Given the description of an element on the screen output the (x, y) to click on. 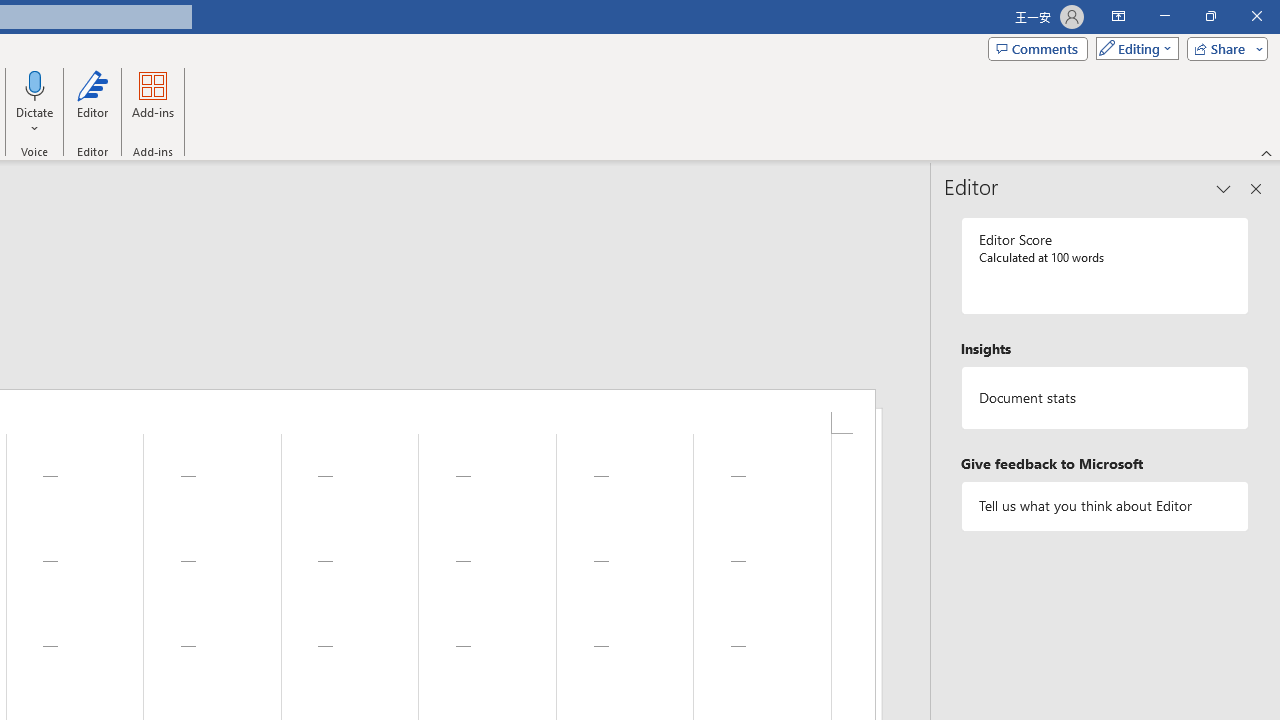
Tell us what you think about Editor (1105, 506)
Document statistics (1105, 398)
